Given the description of an element on the screen output the (x, y) to click on. 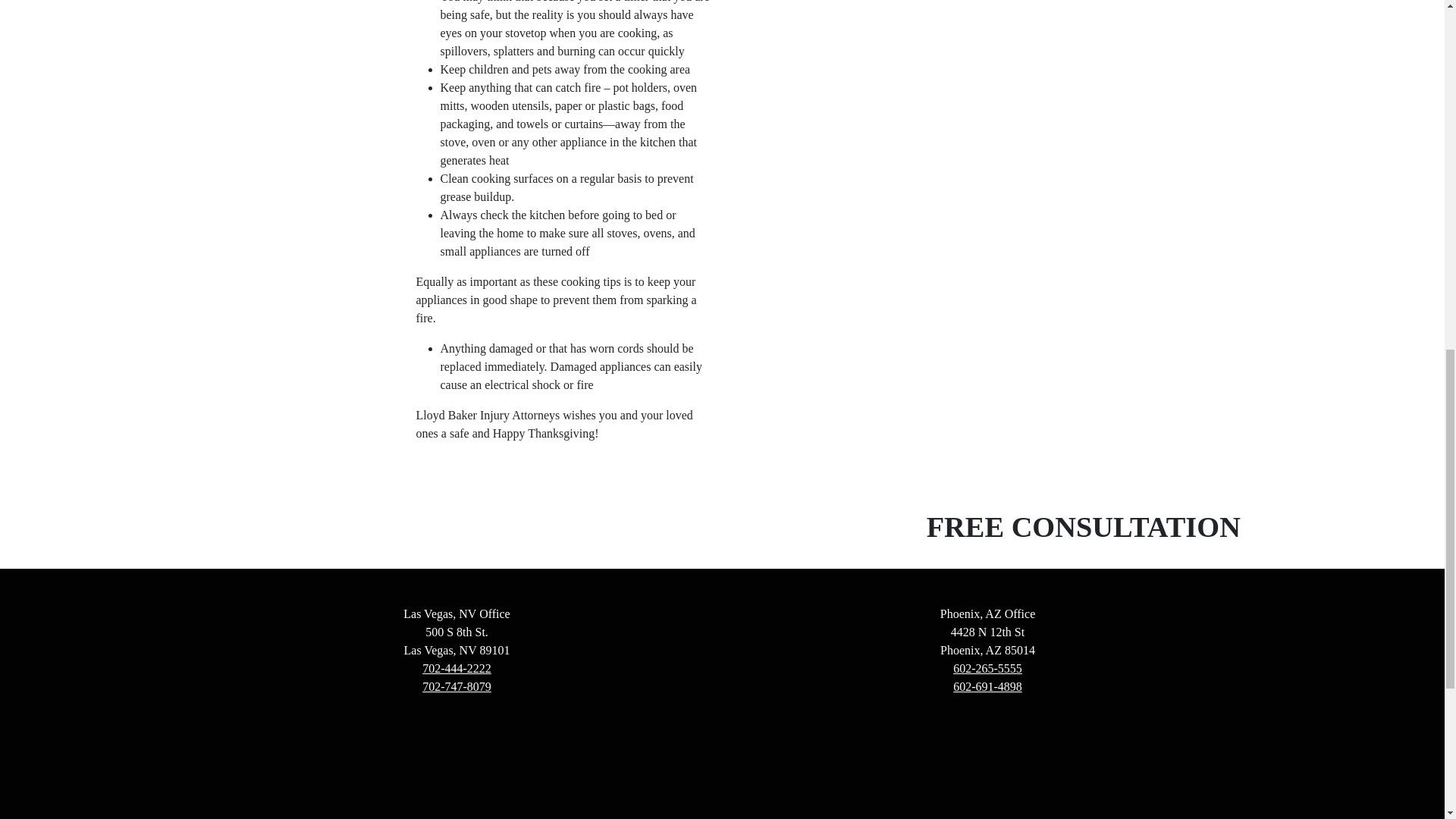
702-444-2222 (457, 667)
602-691-4898 (987, 686)
702-747-8079 (457, 686)
602-265-5555 (987, 667)
